Given the description of an element on the screen output the (x, y) to click on. 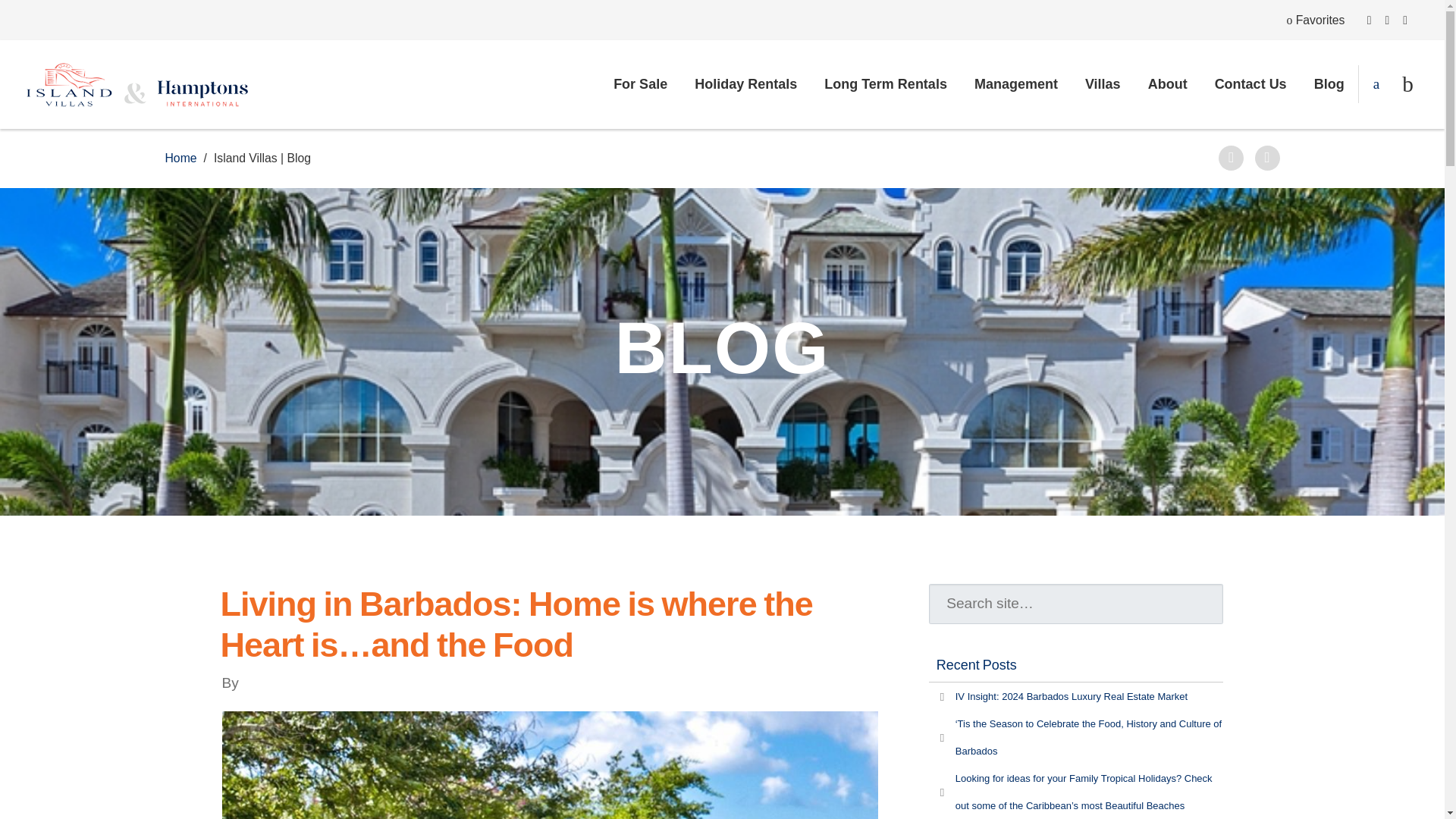
Blog (1329, 84)
Barbados Long Term Rentals (885, 84)
For Sale (640, 84)
Management (1015, 84)
Villas (1102, 84)
Management (1015, 84)
Contact Us (1250, 84)
Blog (1329, 84)
Favorites (1315, 20)
Villas in Barbados (1102, 84)
Holiday Rentals (745, 84)
Land For Sale (1167, 84)
Real Estate For Sales in Barbados (640, 84)
Contact Us (1250, 84)
Long Term Rentals (885, 84)
